Given the description of an element on the screen output the (x, y) to click on. 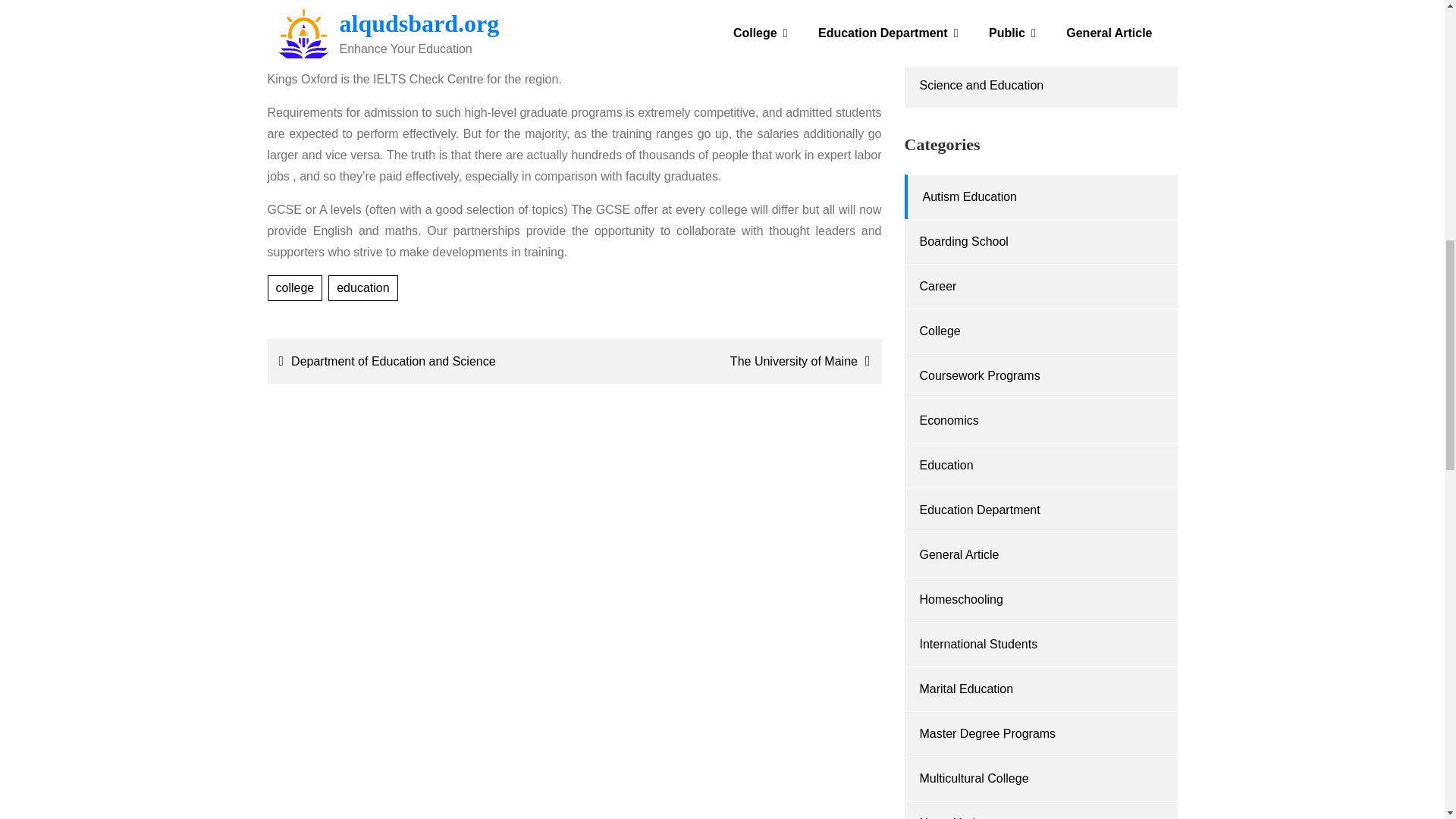
The University of Maine (730, 361)
education (363, 288)
college (293, 288)
Teacher Education (969, 1)
Department of Education and Science (417, 361)
